Given the description of an element on the screen output the (x, y) to click on. 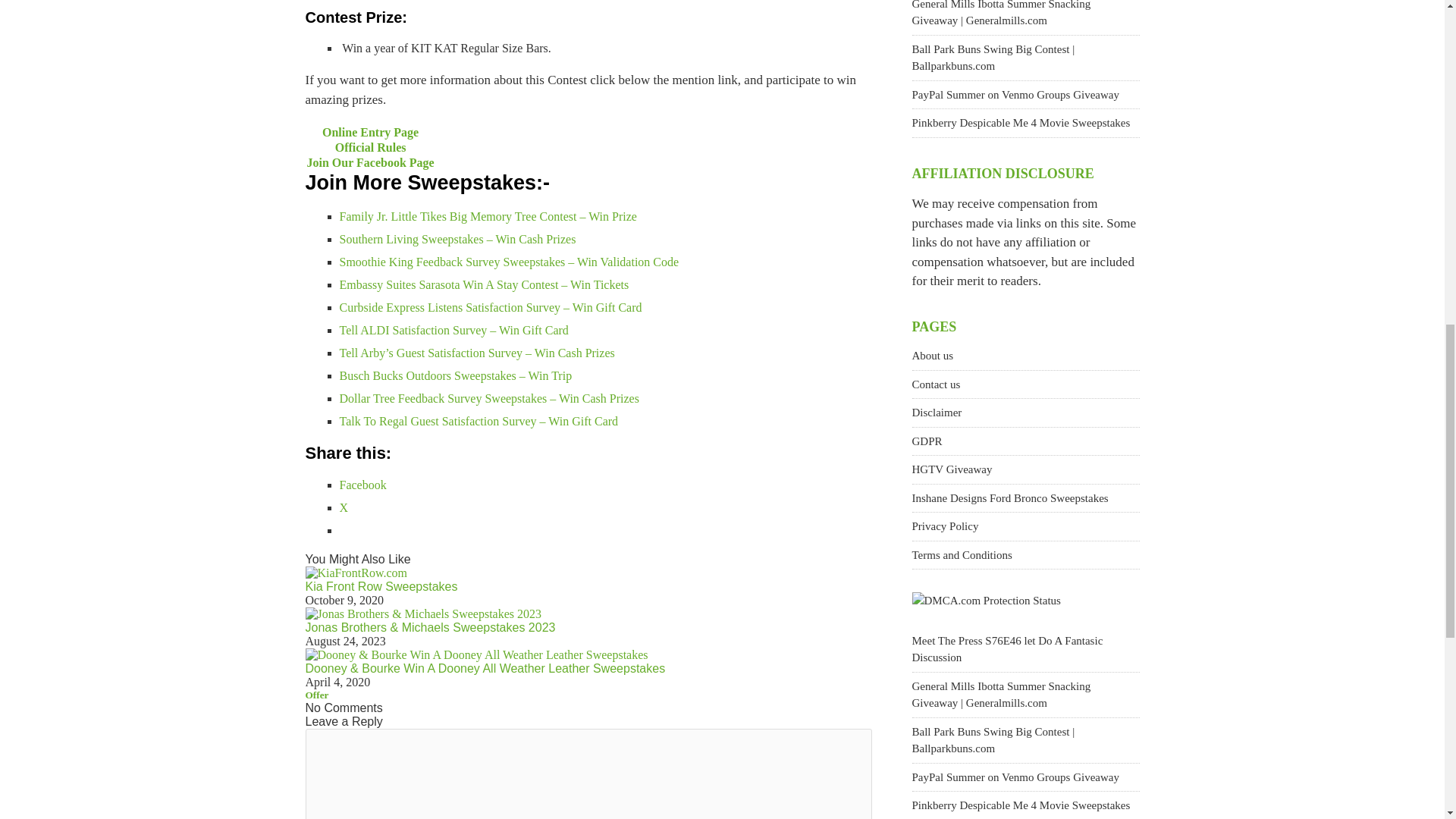
Click to share on X (344, 507)
X (344, 507)
Posts by Offer (316, 695)
DMCA.com Protection Status (985, 600)
Click to share on Facebook (363, 484)
Facebook (363, 484)
Kia Front Row Sweepstakes (380, 585)
Offer (316, 695)
Online Entry Page (370, 132)
Join Our Facebook Page (369, 162)
Official Rules (370, 146)
